Given the description of an element on the screen output the (x, y) to click on. 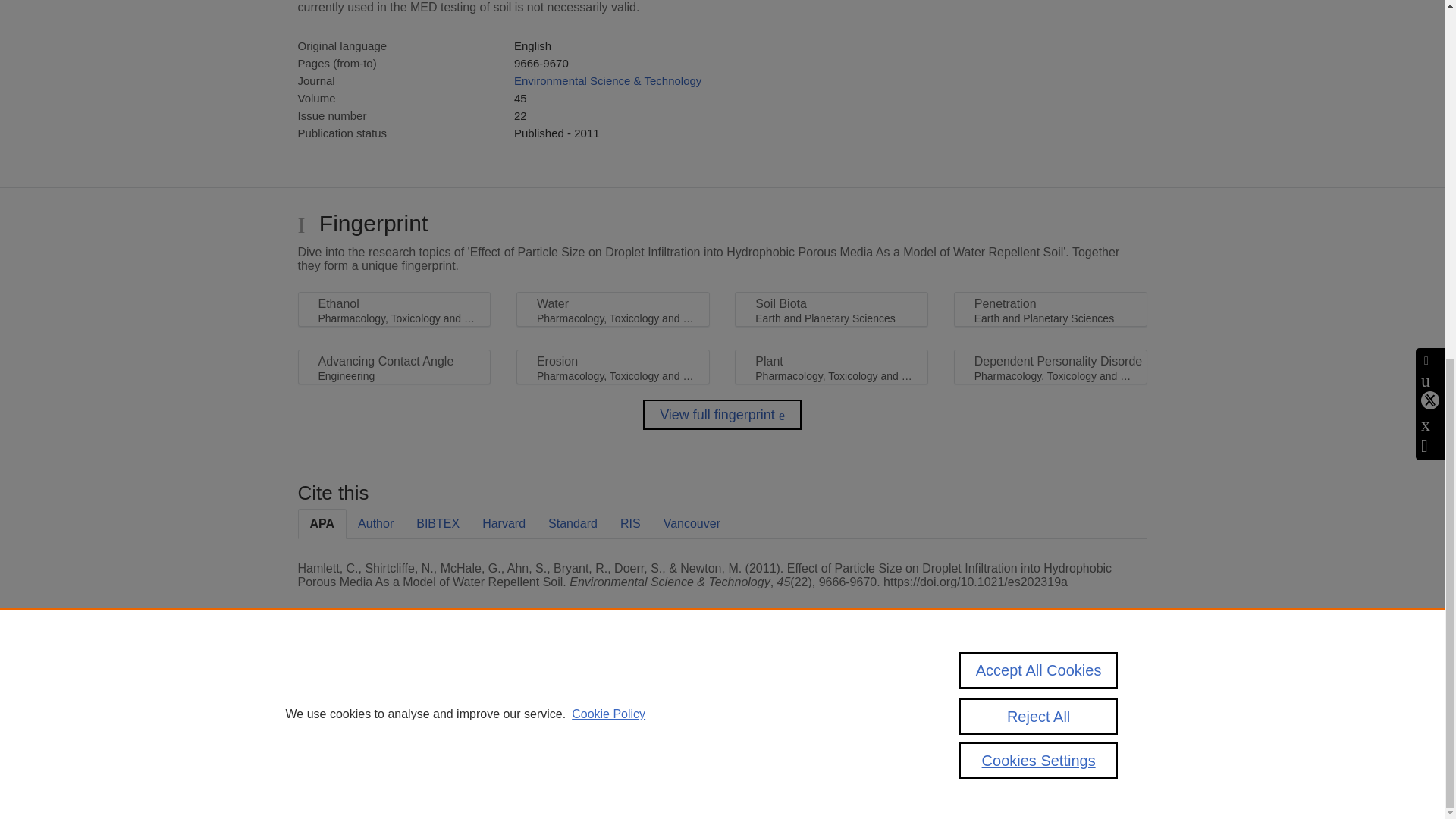
View full fingerprint (722, 414)
Cookies Settings (334, 761)
Scopus (394, 687)
Log in to Pure (327, 781)
Pure (362, 687)
use of cookies (796, 740)
Elsevier B.V. (506, 708)
